Given the description of an element on the screen output the (x, y) to click on. 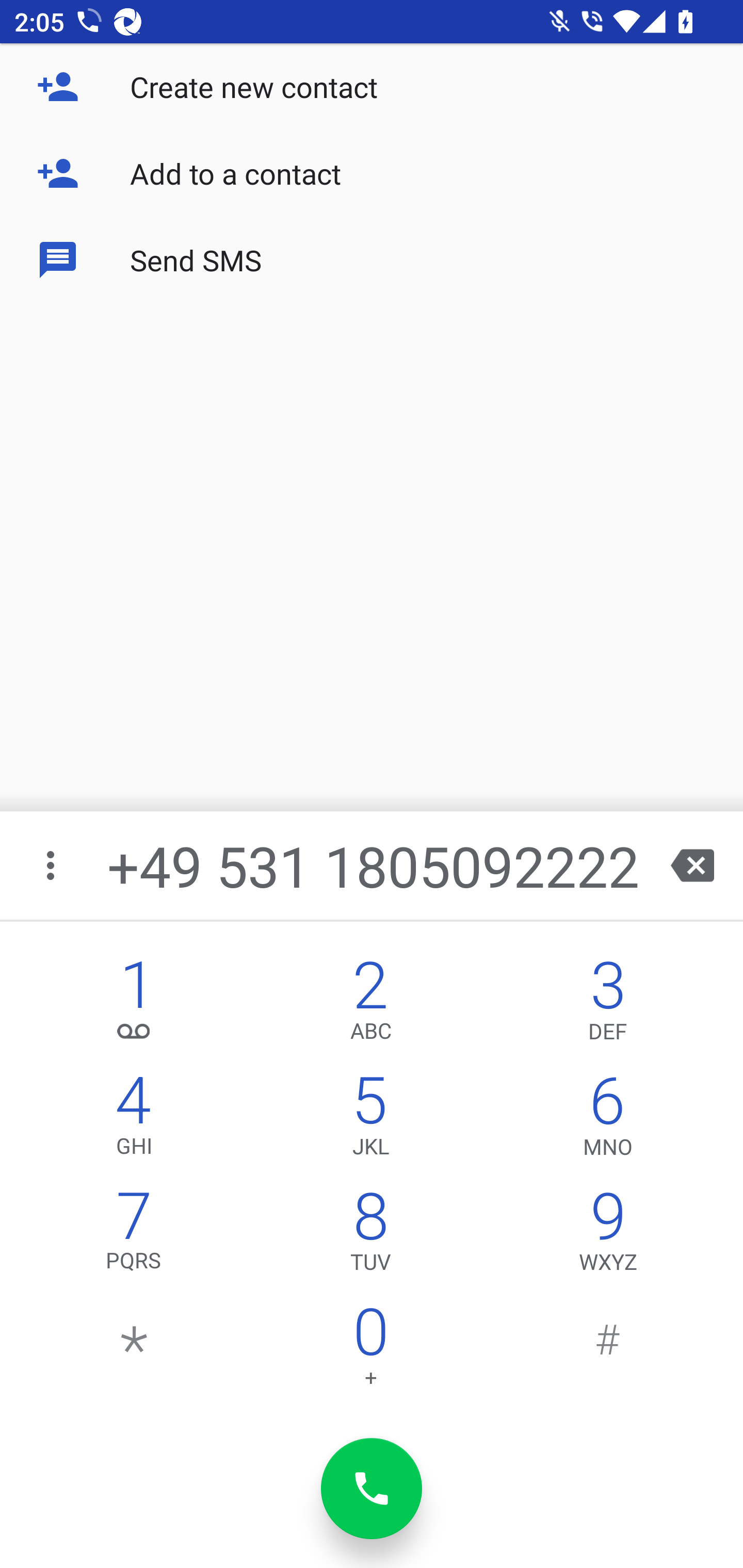
Create new contact (371, 86)
Add to a contact (371, 173)
Send SMS (371, 259)
+49 531 1805092222 (372, 865)
backspace (692, 865)
More options (52, 865)
1, 1 (133, 1005)
2,ABC 2 ABC (370, 1005)
3,DEF 3 DEF (607, 1005)
4,GHI 4 GHI (133, 1120)
5,JKL 5 JKL (370, 1120)
6,MNO 6 MNO (607, 1120)
7,PQRS 7 PQRS (133, 1235)
8,TUV 8 TUV (370, 1235)
9,WXYZ 9 WXYZ (607, 1235)
* (133, 1351)
0 0 + (370, 1351)
# (607, 1351)
dial (371, 1488)
